Given the description of an element on the screen output the (x, y) to click on. 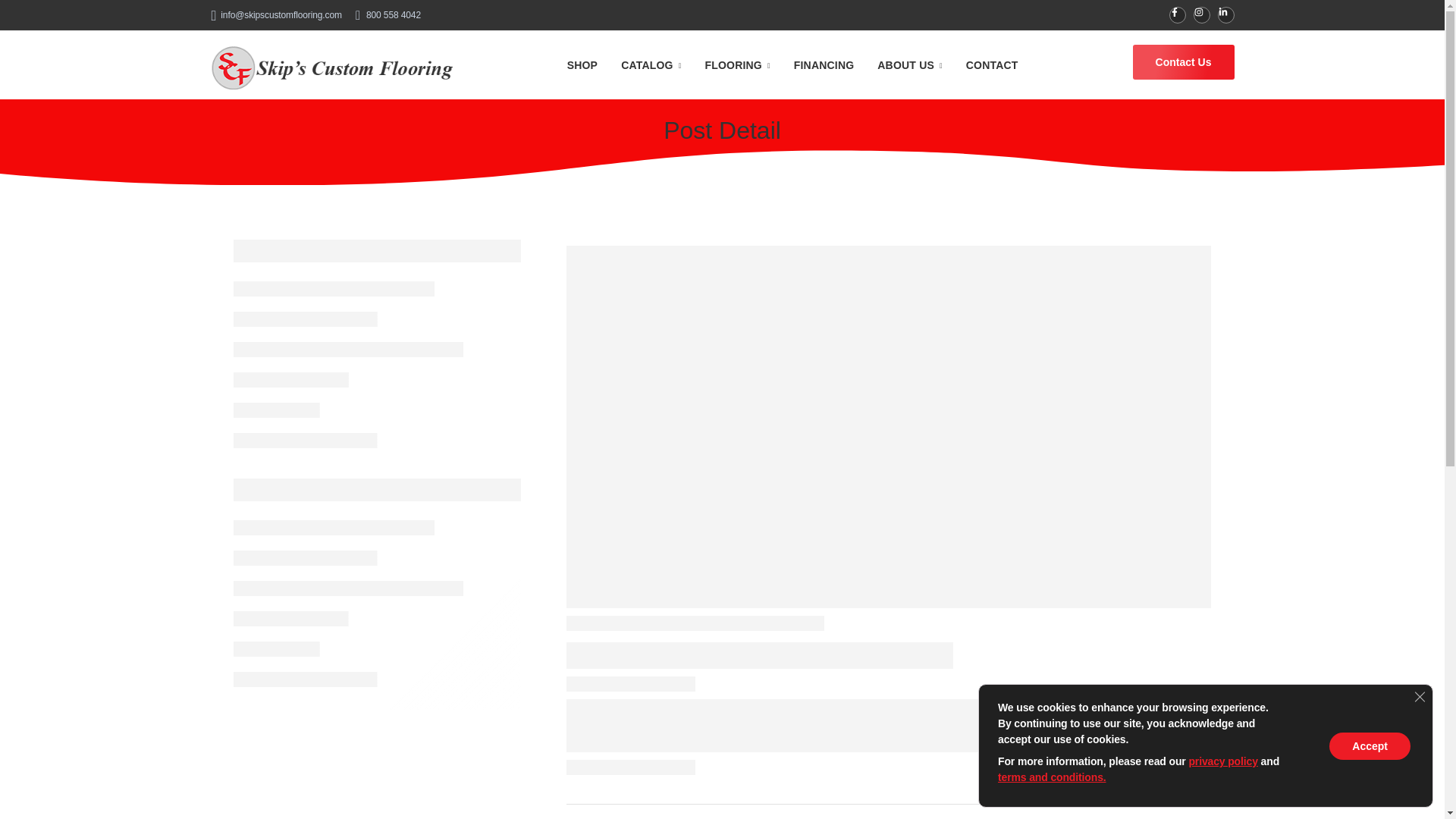
800 558 4042 (387, 15)
CATALOG (650, 64)
FINANCING (823, 64)
ABOUT US (909, 64)
SHOP (582, 64)
Contact Us (1183, 62)
CONTACT (992, 64)
FLOORING (737, 64)
